Given the description of an element on the screen output the (x, y) to click on. 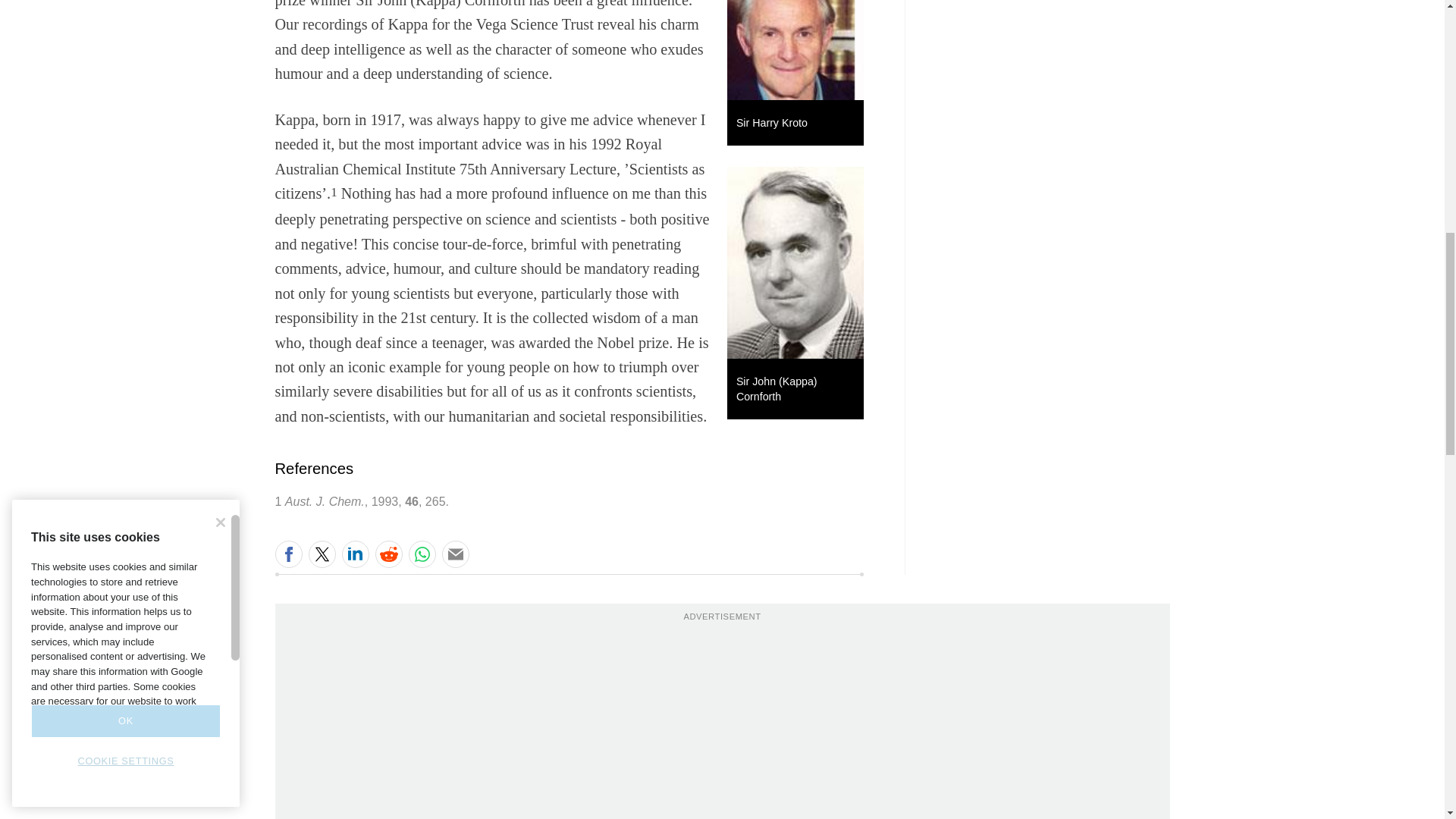
Share this on WhatsApp (421, 554)
Share this on LinkedIn (354, 554)
Share this on Reddit (387, 554)
Share this on Facebook (288, 554)
Share this by email (454, 554)
